Given the description of an element on the screen output the (x, y) to click on. 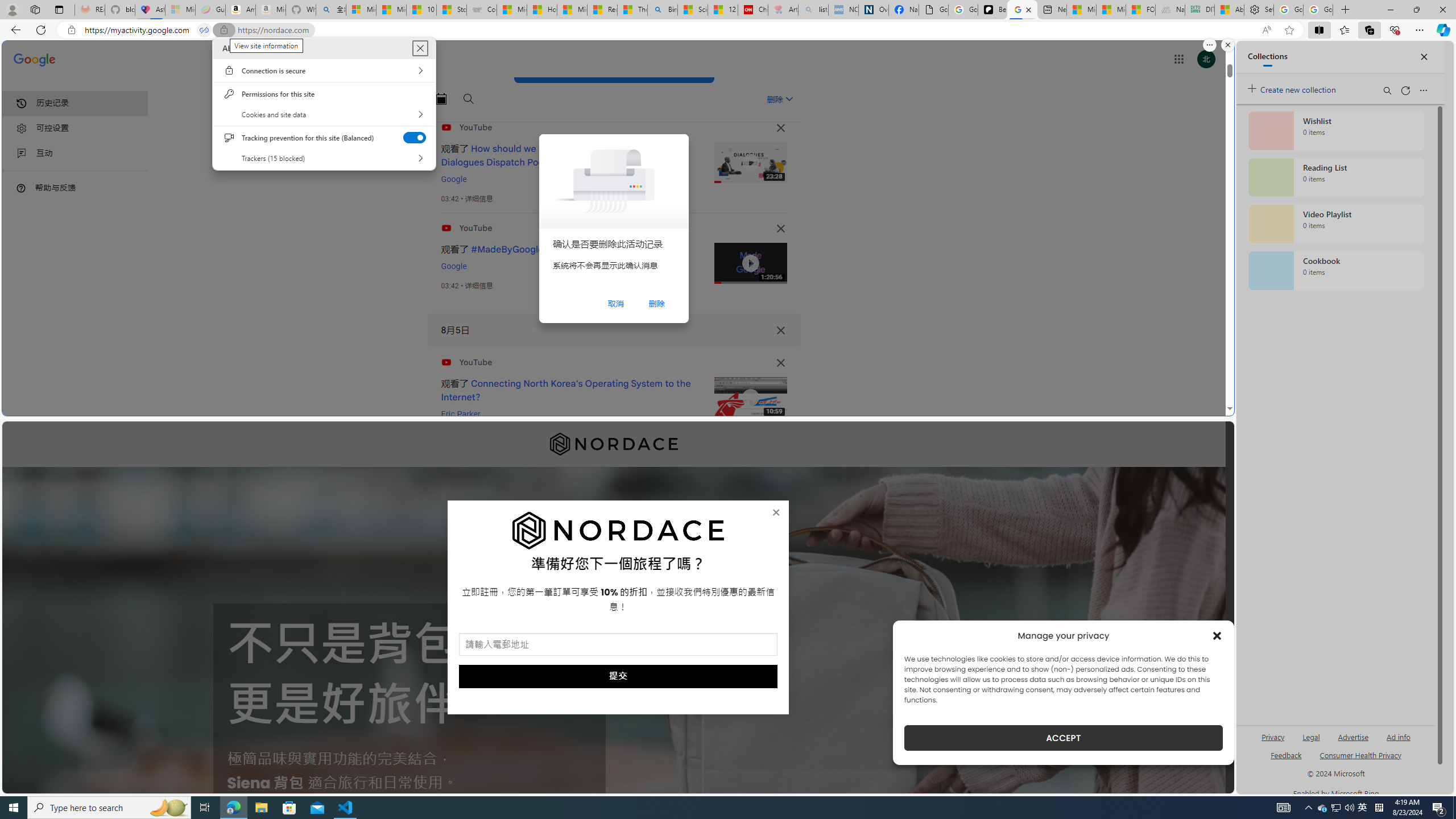
Be Smart | creating Science videos | Patreon (991, 9)
Nordace (613, 443)
Trackers (15 blocked) (323, 158)
User Promoted Notification Area (1336, 807)
Connecting North Korea's Operating System to the Internet? (566, 390)
AutomationID: sb_feedback (1286, 754)
AutomationID: field_5_1 (617, 645)
Science - MSN (691, 9)
Notification Chevron (1308, 807)
View site information (70, 29)
